Given the description of an element on the screen output the (x, y) to click on. 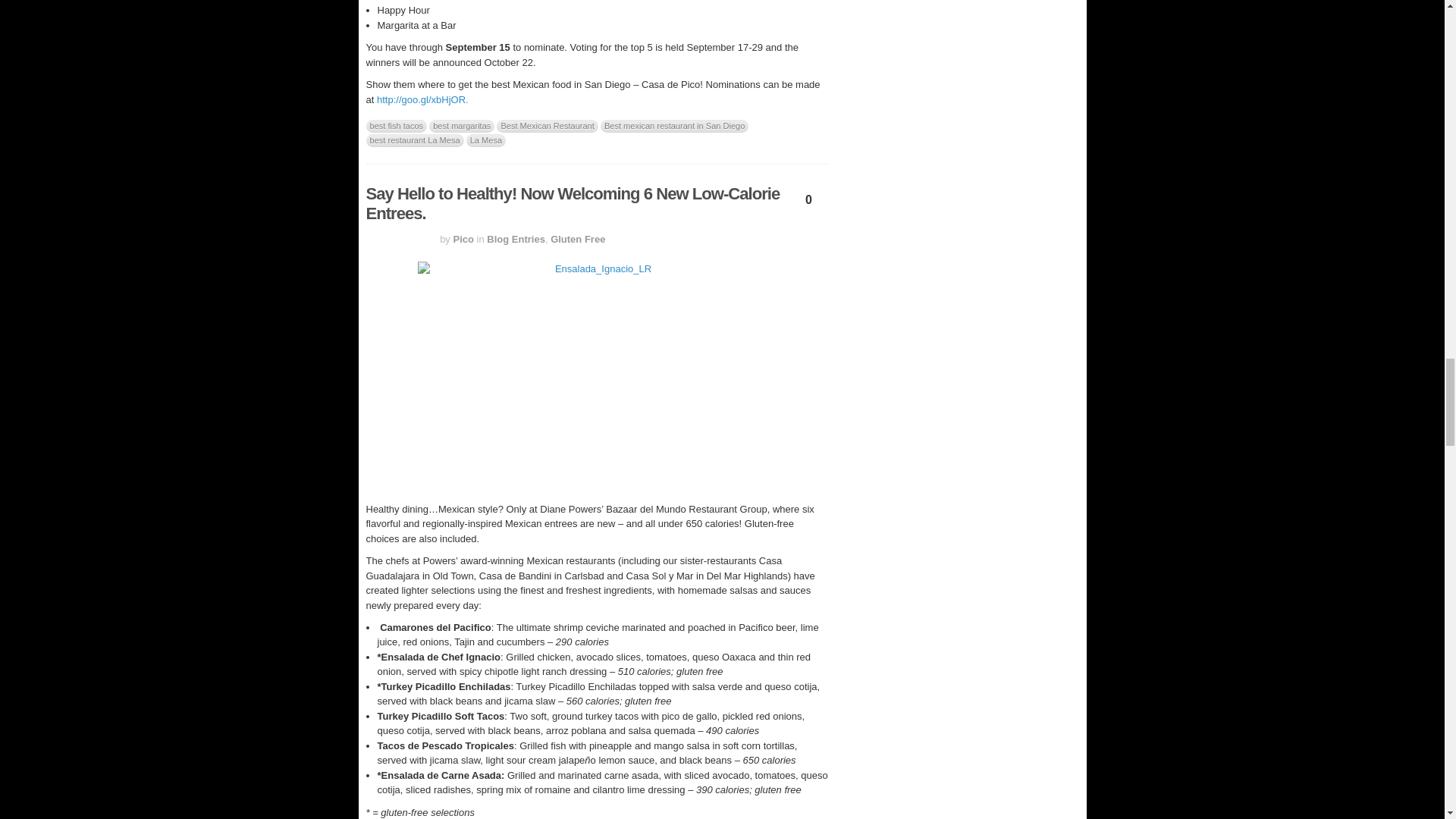
Posts by Pico (462, 238)
